Given the description of an element on the screen output the (x, y) to click on. 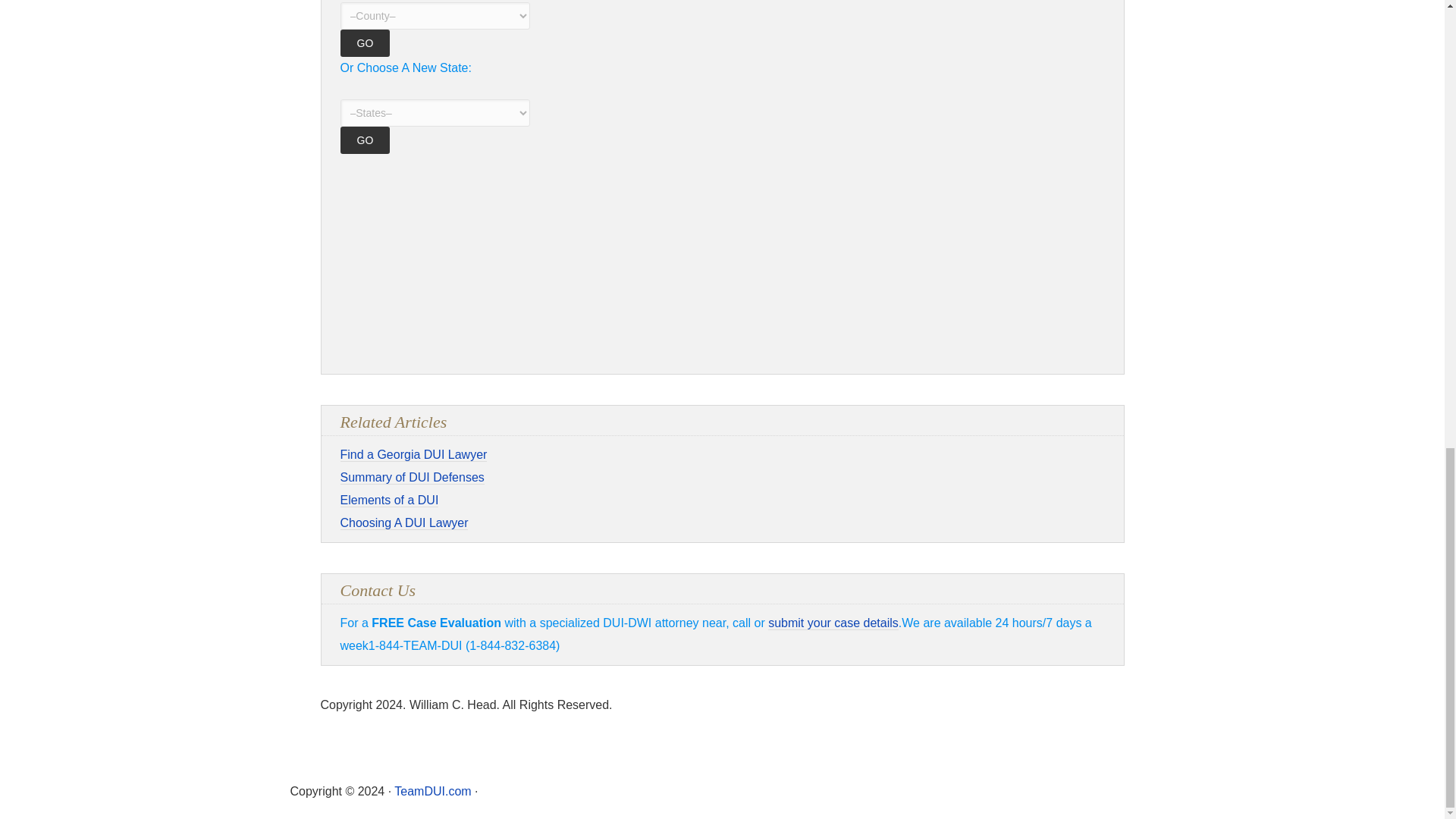
Elements Of A DUI (388, 499)
Find a Georgia DUI Lawyer (412, 454)
GO (364, 139)
GO (364, 42)
